Given the description of an element on the screen output the (x, y) to click on. 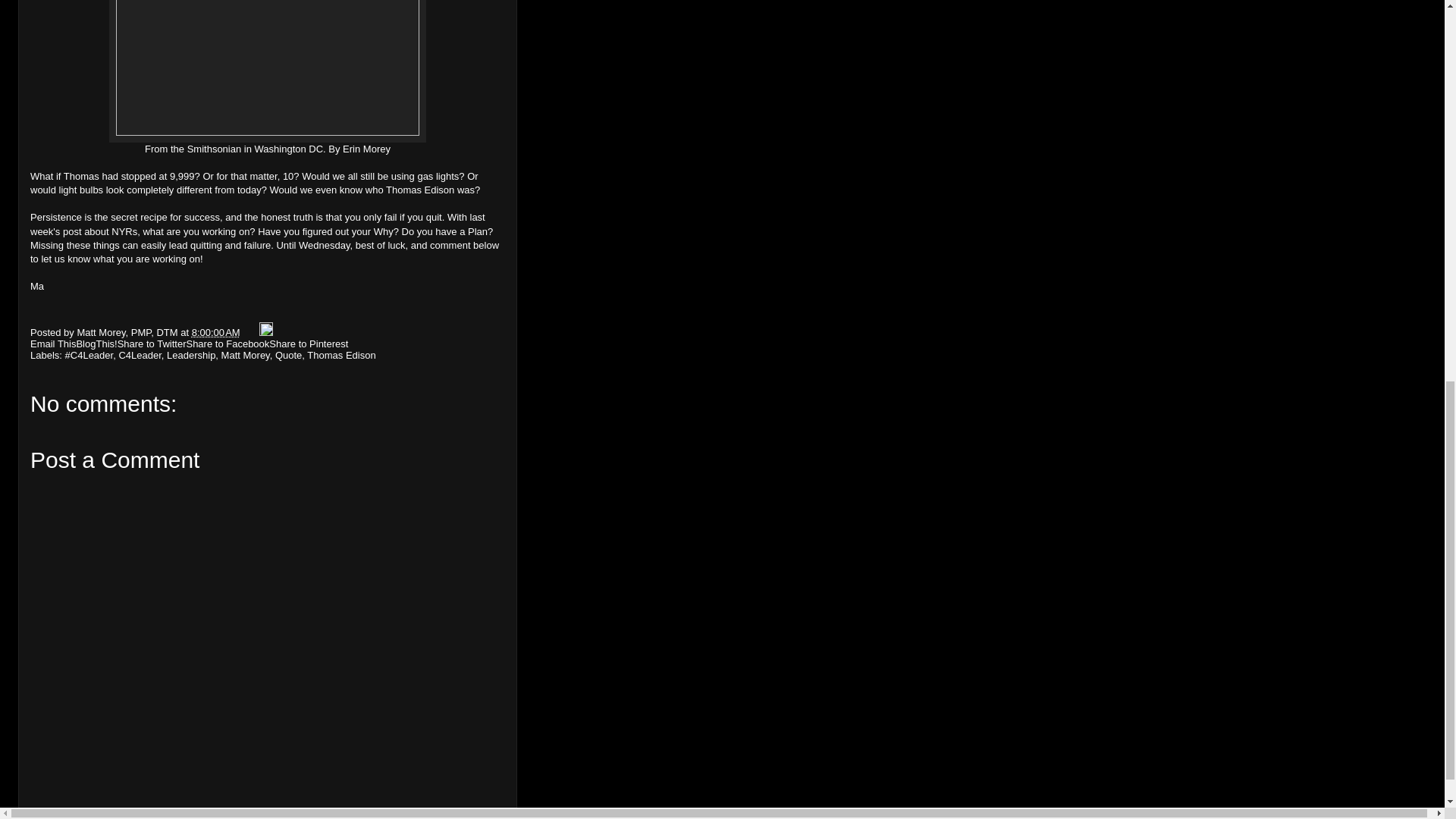
Thomas Edison (341, 355)
Share to Facebook (227, 343)
C4Leader (138, 355)
Share to Twitter (151, 343)
Share to Twitter (151, 343)
Share to Facebook (227, 343)
Email Post (251, 332)
author profile (128, 332)
Leadership (191, 355)
Edit Post (266, 332)
